Given the description of an element on the screen output the (x, y) to click on. 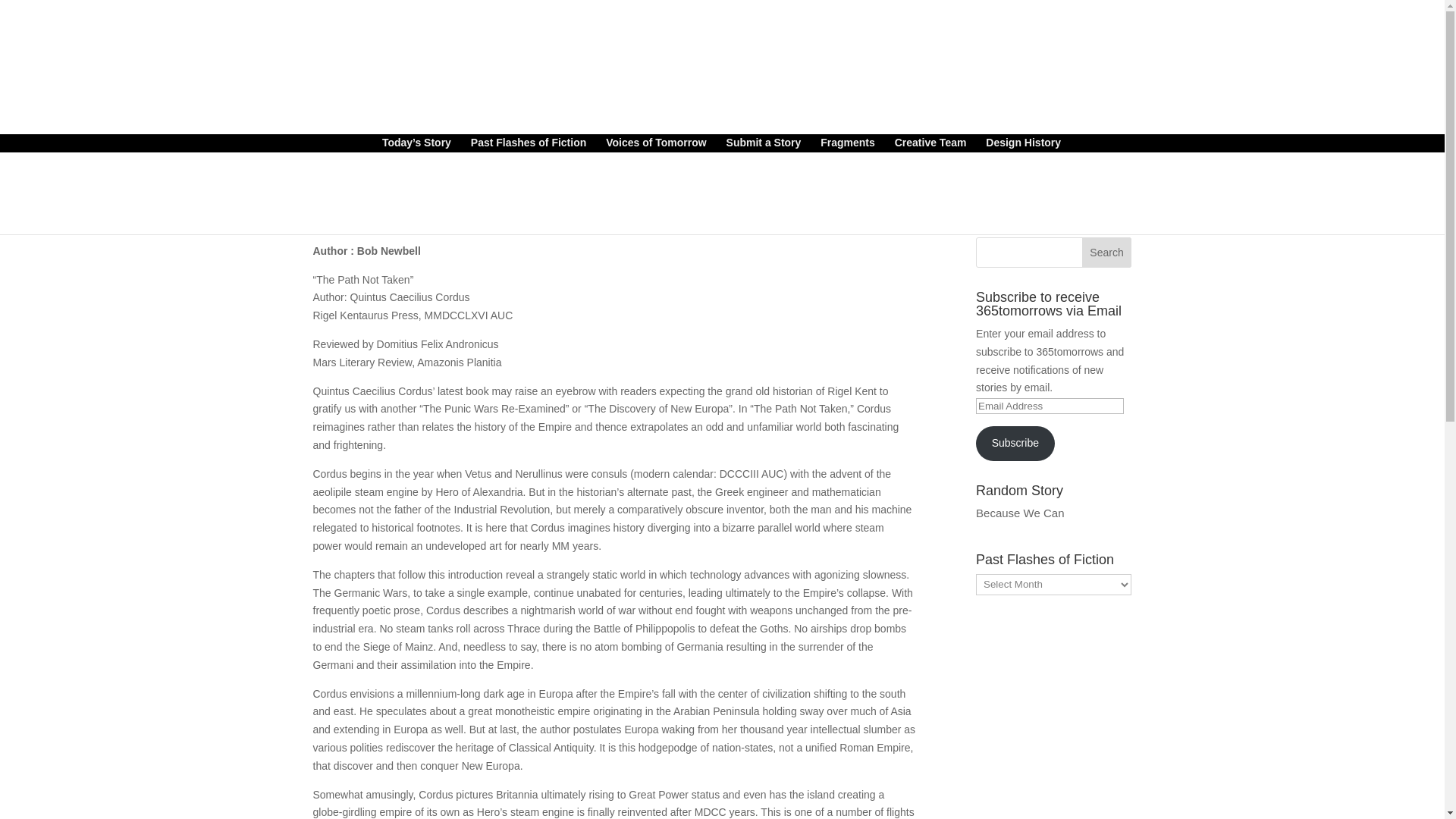
Story (472, 193)
Search (1106, 252)
Creative Team (930, 144)
Search (1106, 252)
Because We Can (1019, 512)
Posts by submission (353, 193)
Voices of Tomorrow (655, 144)
Subscribe (1014, 443)
submission (353, 193)
Design History (1023, 144)
Fragments (848, 144)
Past Flashes of Fiction (528, 144)
0 comments (522, 193)
Submit a Story (764, 144)
